Given the description of an element on the screen output the (x, y) to click on. 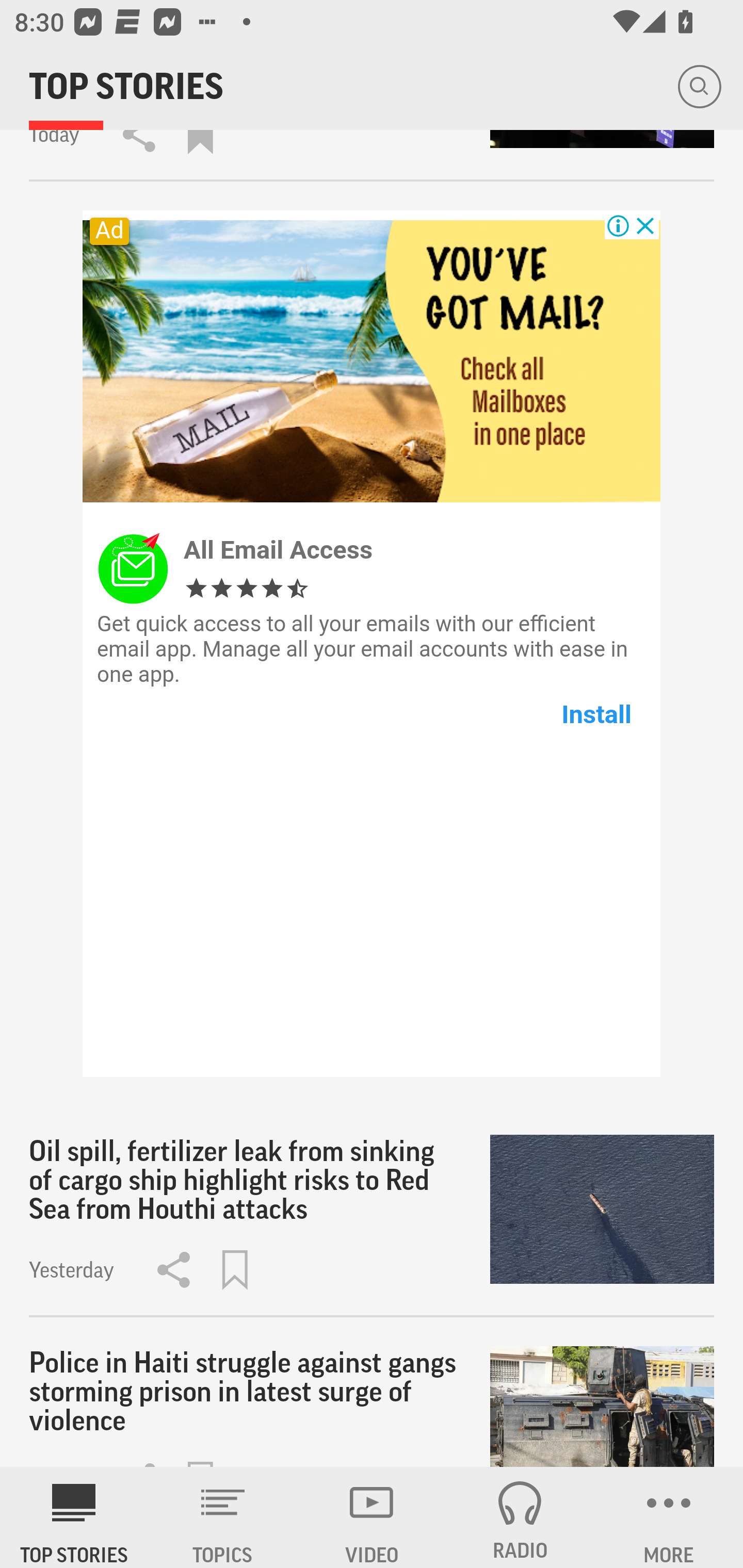
All Email Access (277, 549)
Install (595, 713)
AP News TOP STORIES (74, 1517)
TOPICS (222, 1517)
VIDEO (371, 1517)
RADIO (519, 1517)
MORE (668, 1517)
